Given the description of an element on the screen output the (x, y) to click on. 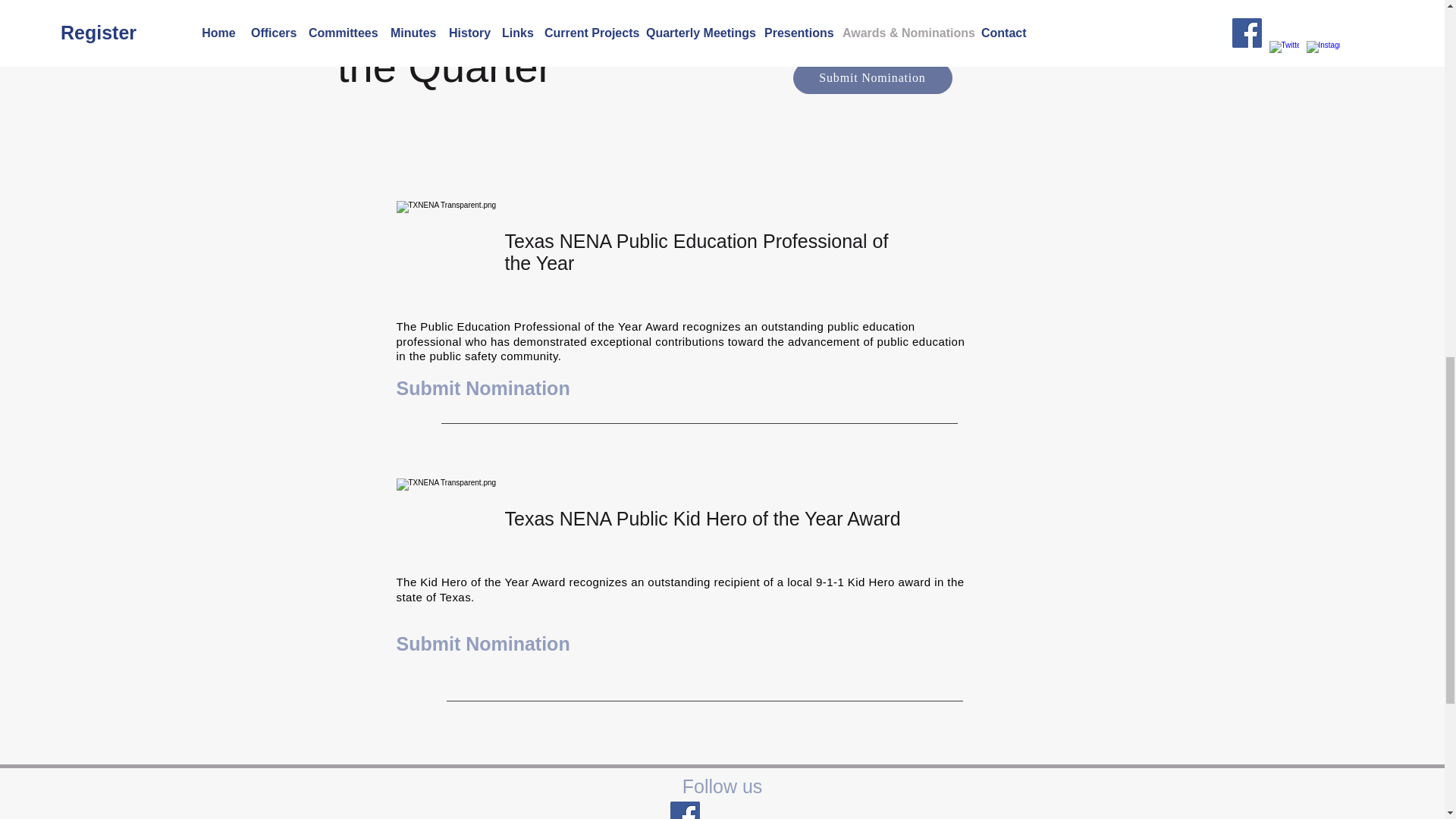
Submit Nomination (482, 643)
Submit Nomination (482, 388)
Submit Nomination (872, 78)
